Given the description of an element on the screen output the (x, y) to click on. 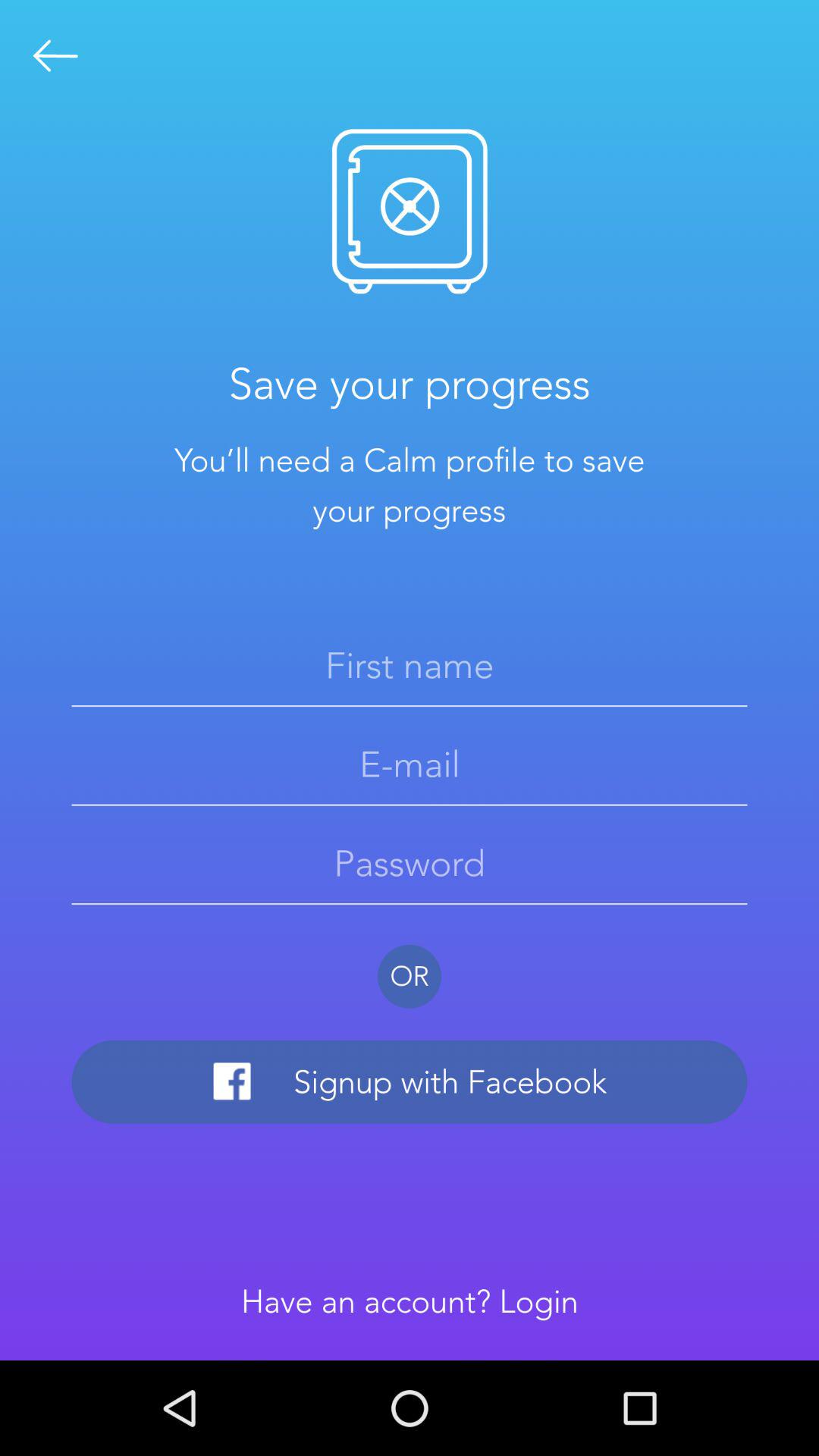
this is join website (55, 55)
